Given the description of an element on the screen output the (x, y) to click on. 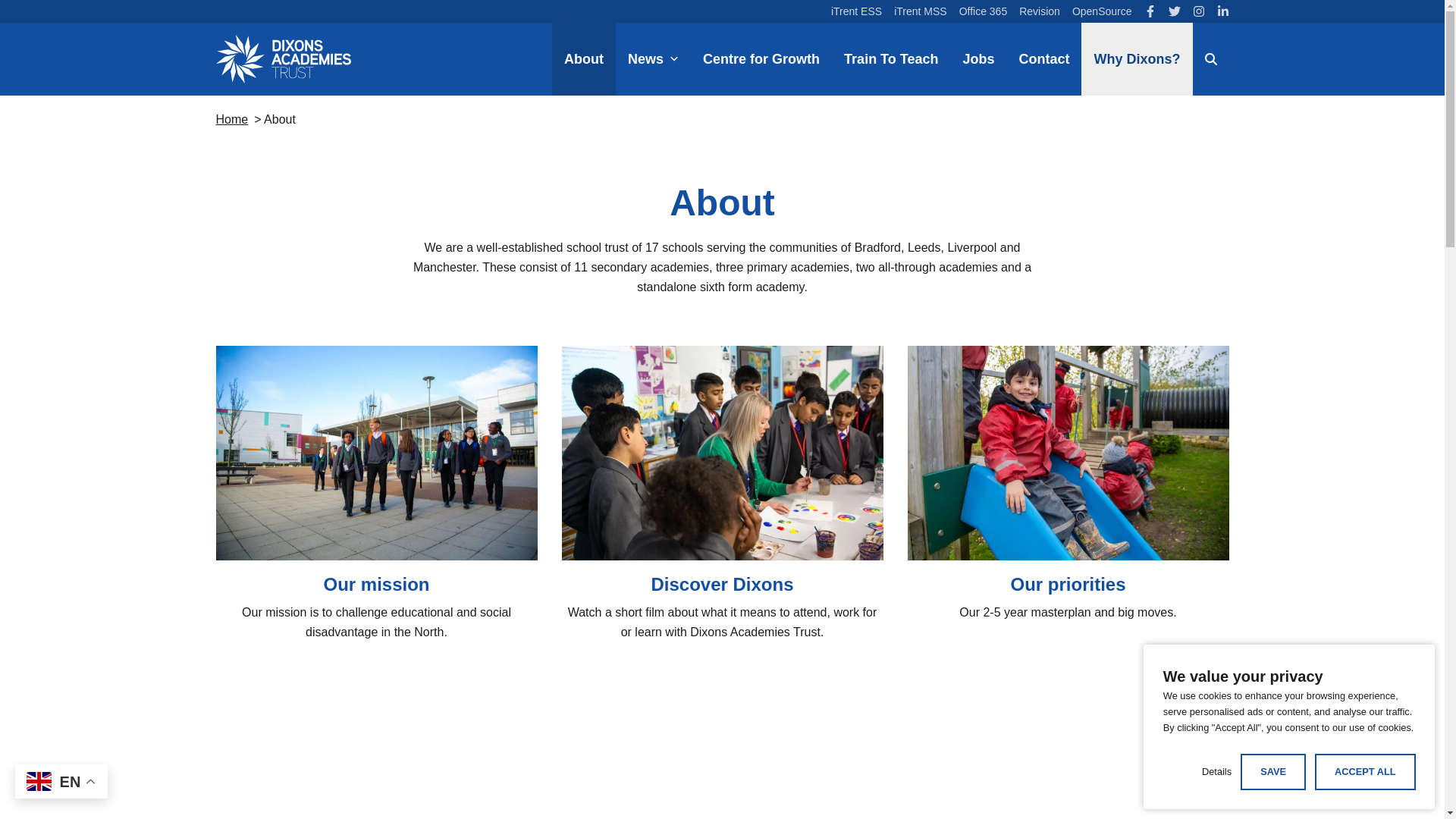
iTrent MSS (920, 11)
Home (231, 119)
Why Dixons? (1136, 58)
SAVE (1273, 771)
iTrent ESS (856, 11)
ACCEPT ALL (1364, 771)
Office 365 (983, 11)
Centre for Growth (760, 58)
Revision (1039, 11)
News (652, 58)
